Given the description of an element on the screen output the (x, y) to click on. 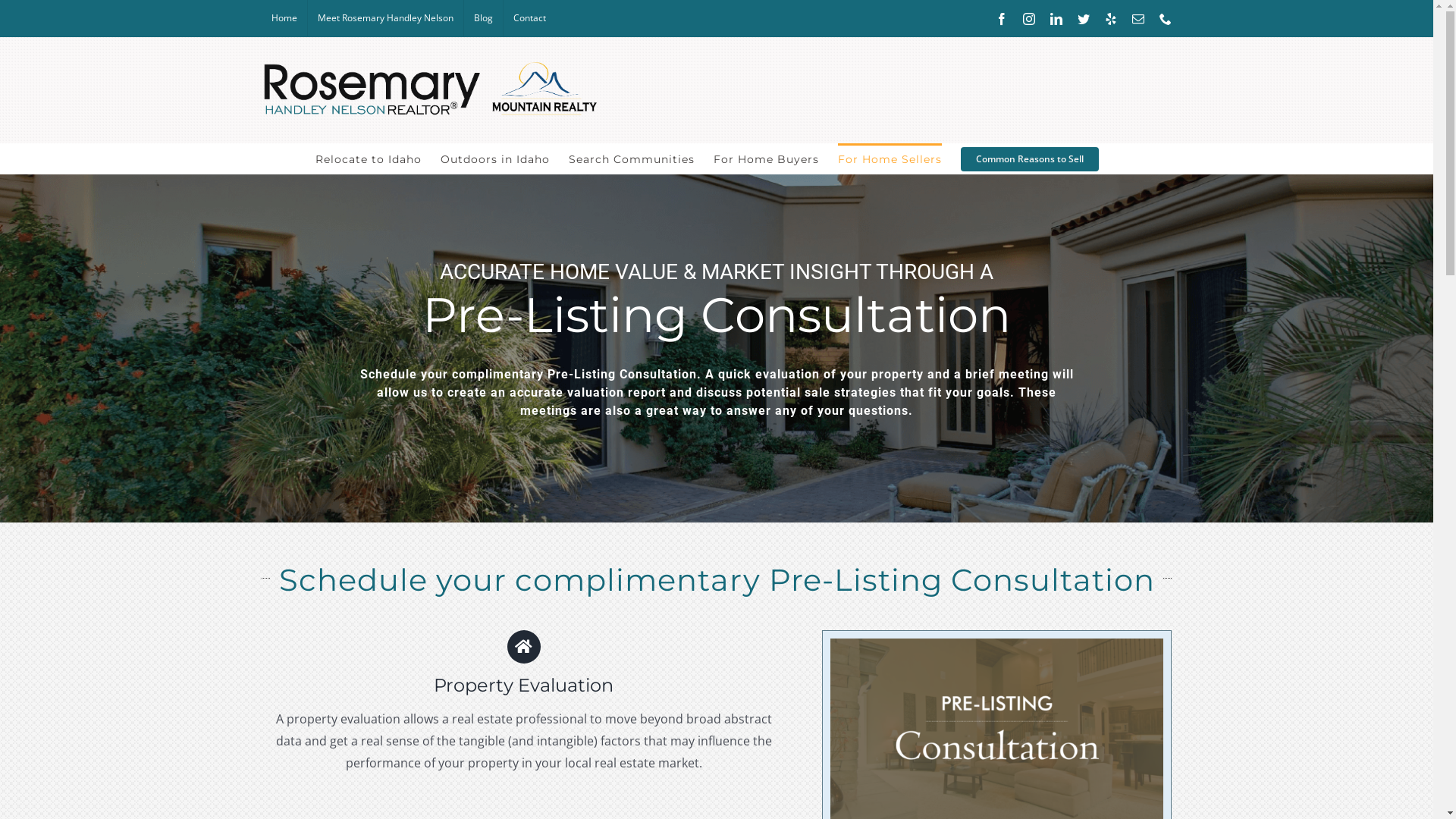
Blog Element type: text (483, 18)
Search Communities Element type: text (631, 158)
For Home Sellers Element type: text (889, 158)
Contact Element type: text (529, 18)
Email Element type: text (1138, 18)
Common Reasons to Sell Element type: text (1029, 158)
Relocate to Idaho Element type: text (368, 158)
Twitter Element type: text (1083, 18)
Phone Element type: text (1165, 18)
Facebook Element type: text (1001, 18)
Yelp Element type: text (1110, 18)
Meet Rosemary Handley Nelson Element type: text (385, 18)
LinkedIn Element type: text (1056, 18)
Home Element type: text (284, 18)
Outdoors in Idaho Element type: text (494, 158)
For Home Buyers Element type: text (766, 158)
Instagram Element type: text (1028, 18)
